Given the description of an element on the screen output the (x, y) to click on. 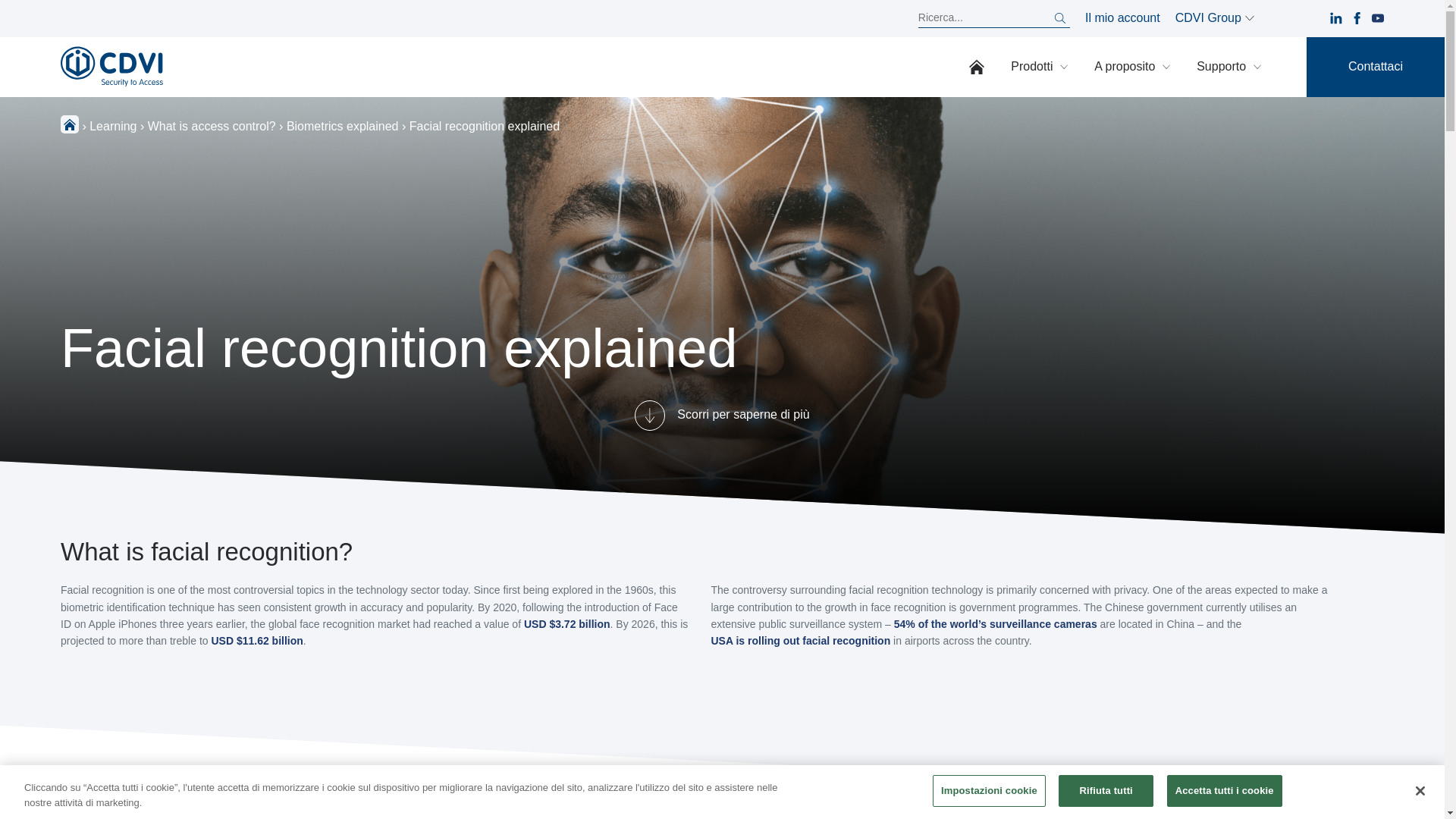
Prodotti (1038, 66)
Il mio account (1122, 18)
Home (976, 66)
CDVI Group (1213, 18)
